Given the description of an element on the screen output the (x, y) to click on. 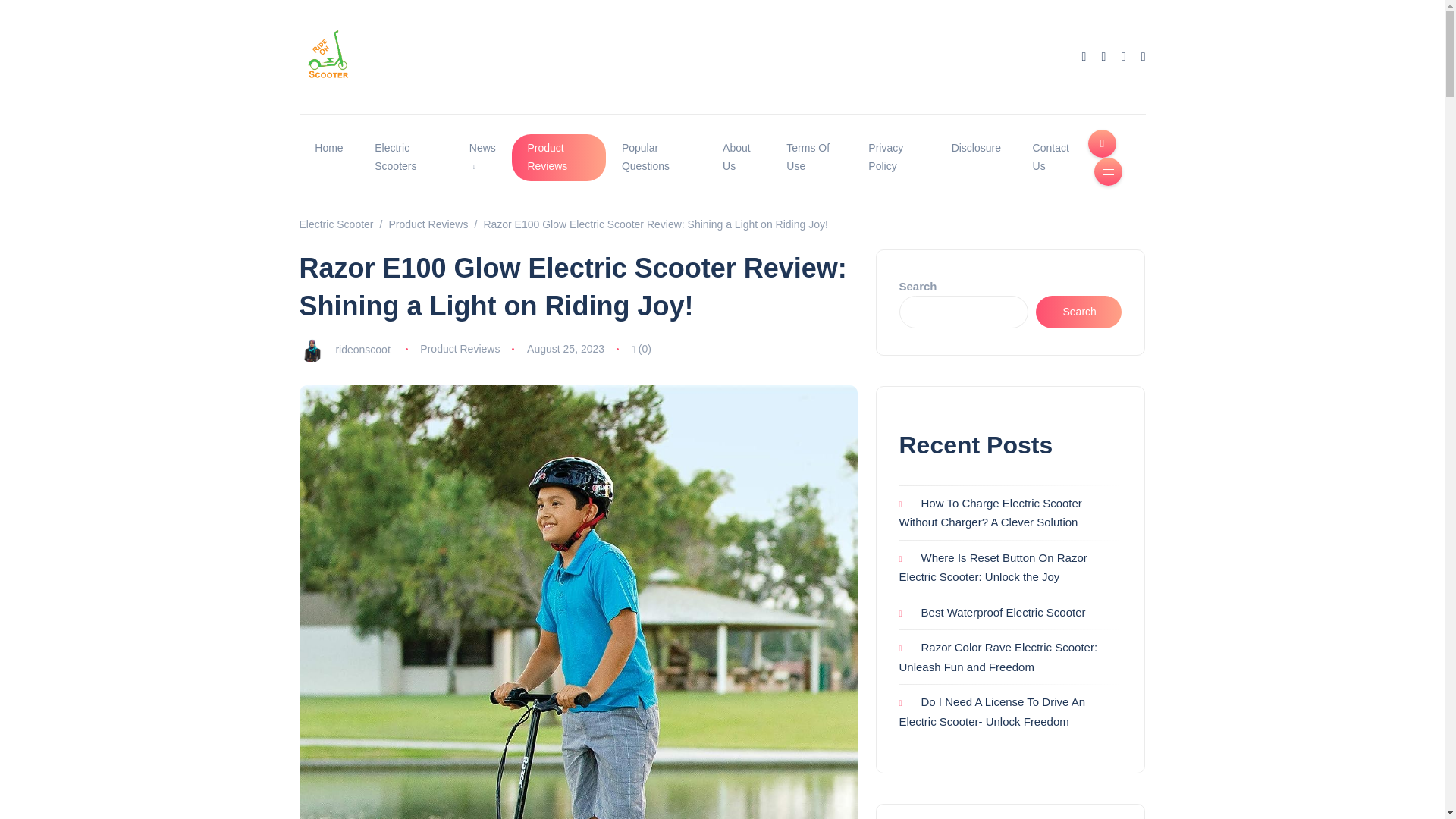
Posts by rideonscoot (362, 348)
Electric Scooters (405, 157)
Go to Electric Scooter. (335, 224)
Go to the Product Reviews Category archives. (427, 224)
Product Reviews (559, 157)
News (482, 157)
Home (328, 148)
